Given the description of an element on the screen output the (x, y) to click on. 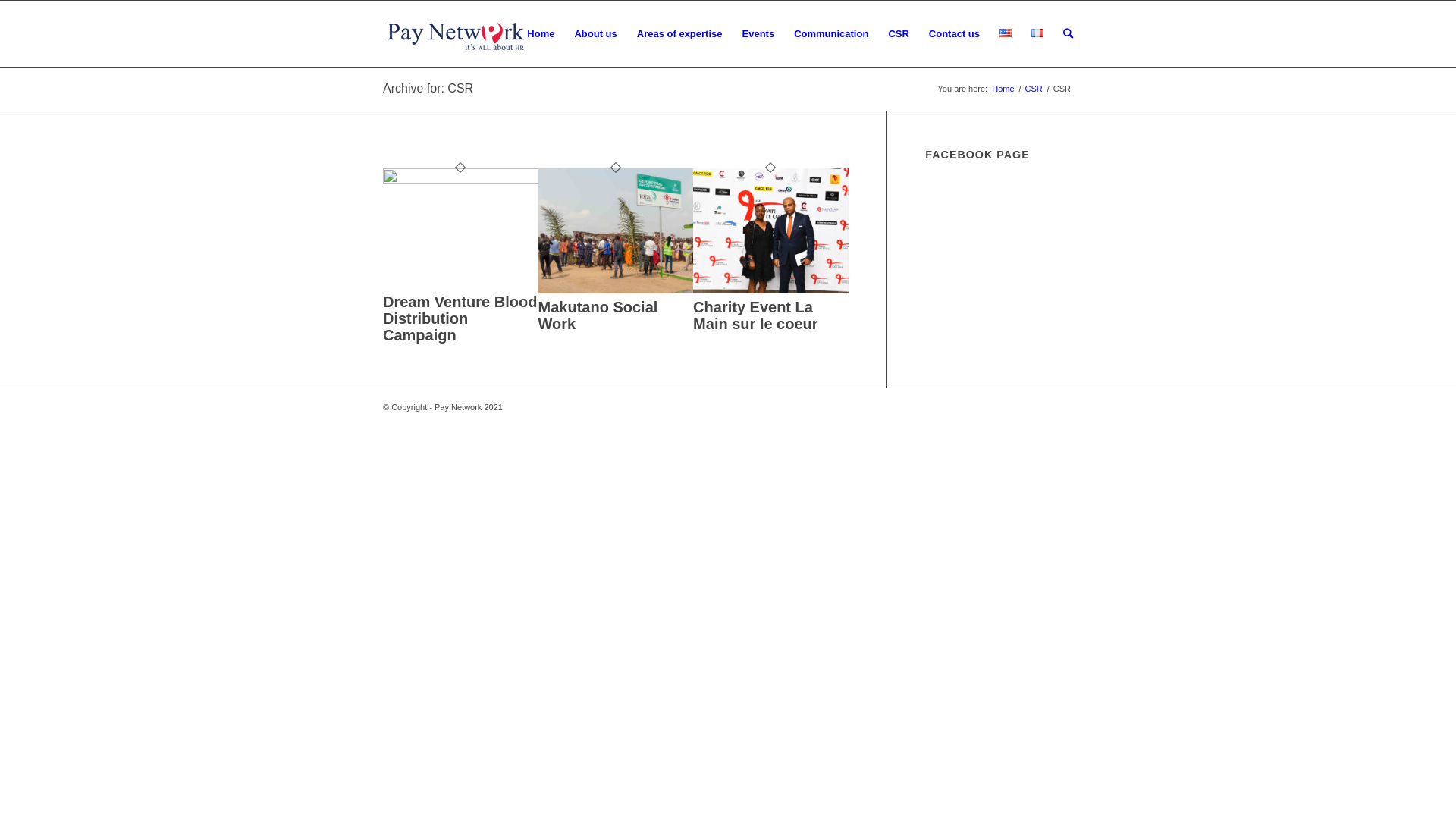
Makutano Social Work Element type: text (598, 315)
CSR Element type: text (1033, 88)
Dream Venture Blood Distribution Campaign Element type: text (459, 318)
Charity Event La Main sur le coeur Element type: hover (770, 289)
Dream Venture Blood Distribution Campaign Element type: hover (460, 179)
Contact us Element type: text (954, 33)
Home Element type: text (540, 33)
Areas of expertise Element type: text (679, 33)
Makutano  Social Work Element type: hover (615, 289)
About us Element type: text (595, 33)
CSR Element type: text (898, 33)
Home Element type: text (1002, 88)
Charity Event La Main sur le coeur Element type: text (755, 315)
Archive for: CSR Element type: text (427, 87)
Communication Element type: text (831, 33)
Events Element type: text (758, 33)
